Given the description of an element on the screen output the (x, y) to click on. 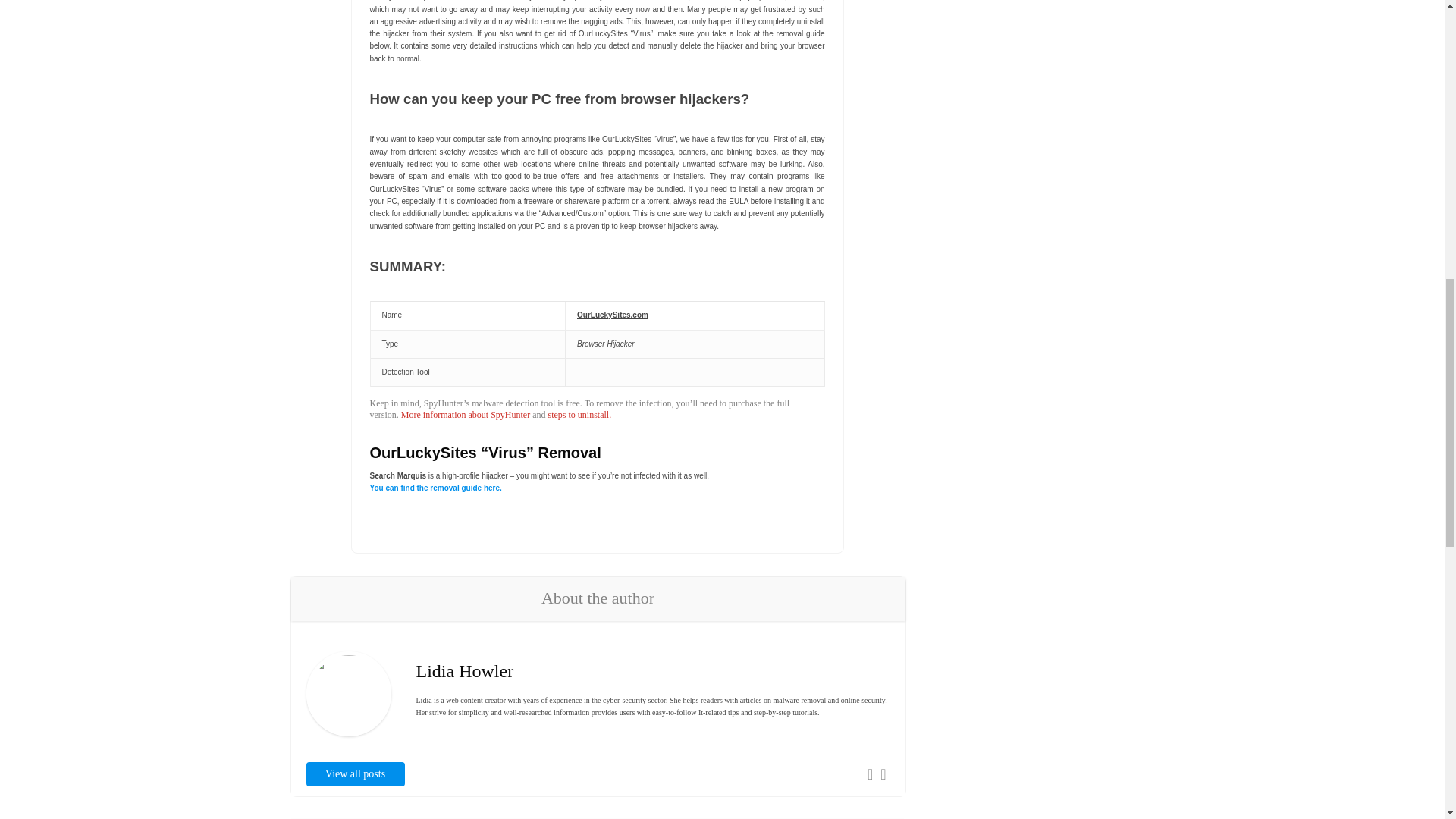
View all posts (354, 774)
steps to uninstall. (579, 414)
You can find the removal guide here. (435, 488)
More information about SpyHunter (465, 414)
